Given the description of an element on the screen output the (x, y) to click on. 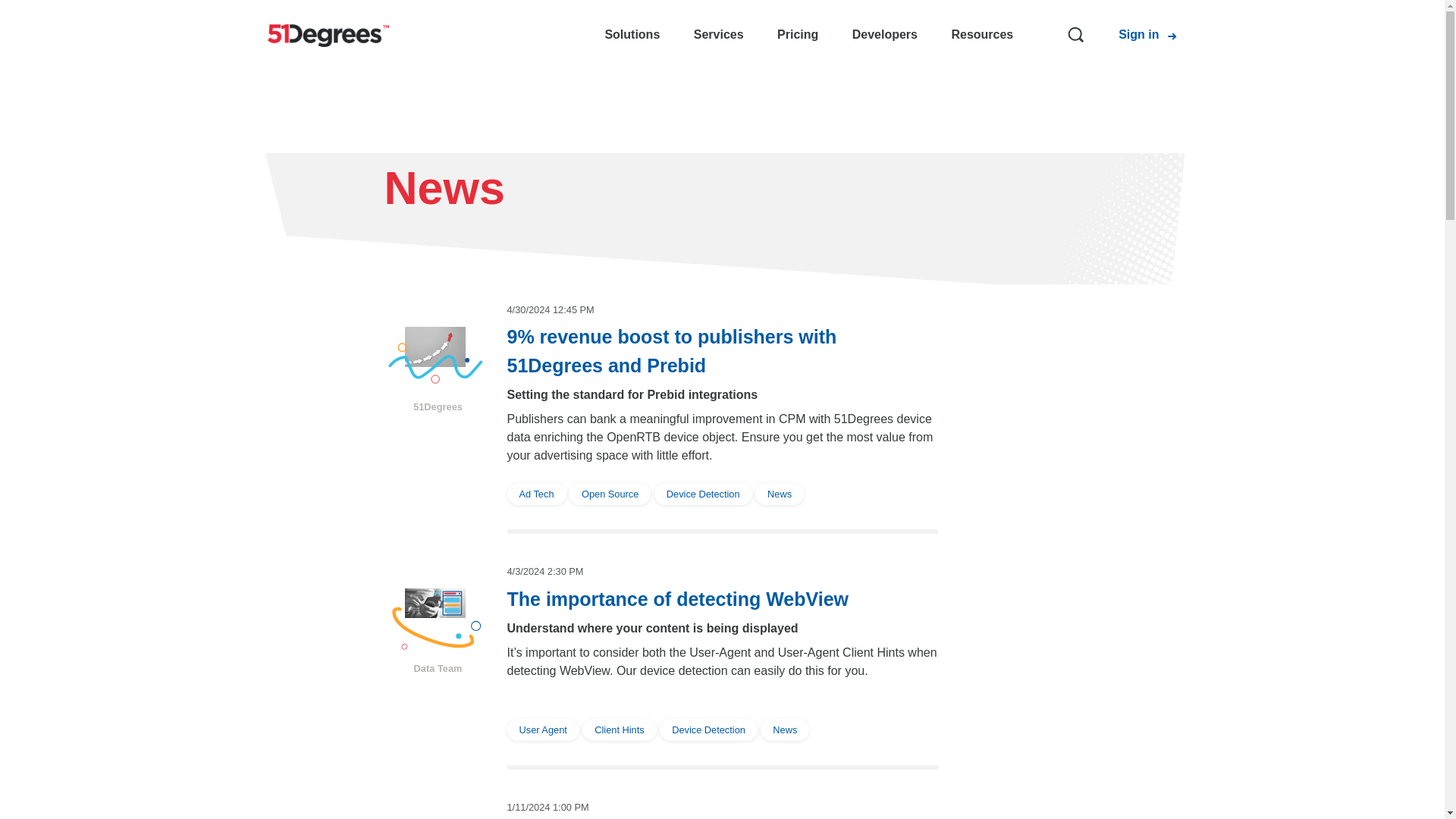
Open Source (611, 492)
User Agent (544, 728)
Services (719, 34)
News (779, 492)
Resources (981, 34)
Developers (884, 34)
Device Detection (704, 492)
Ad Tech (537, 492)
Pricing (797, 34)
Solutions (631, 34)
Sign in (1138, 34)
